Given the description of an element on the screen output the (x, y) to click on. 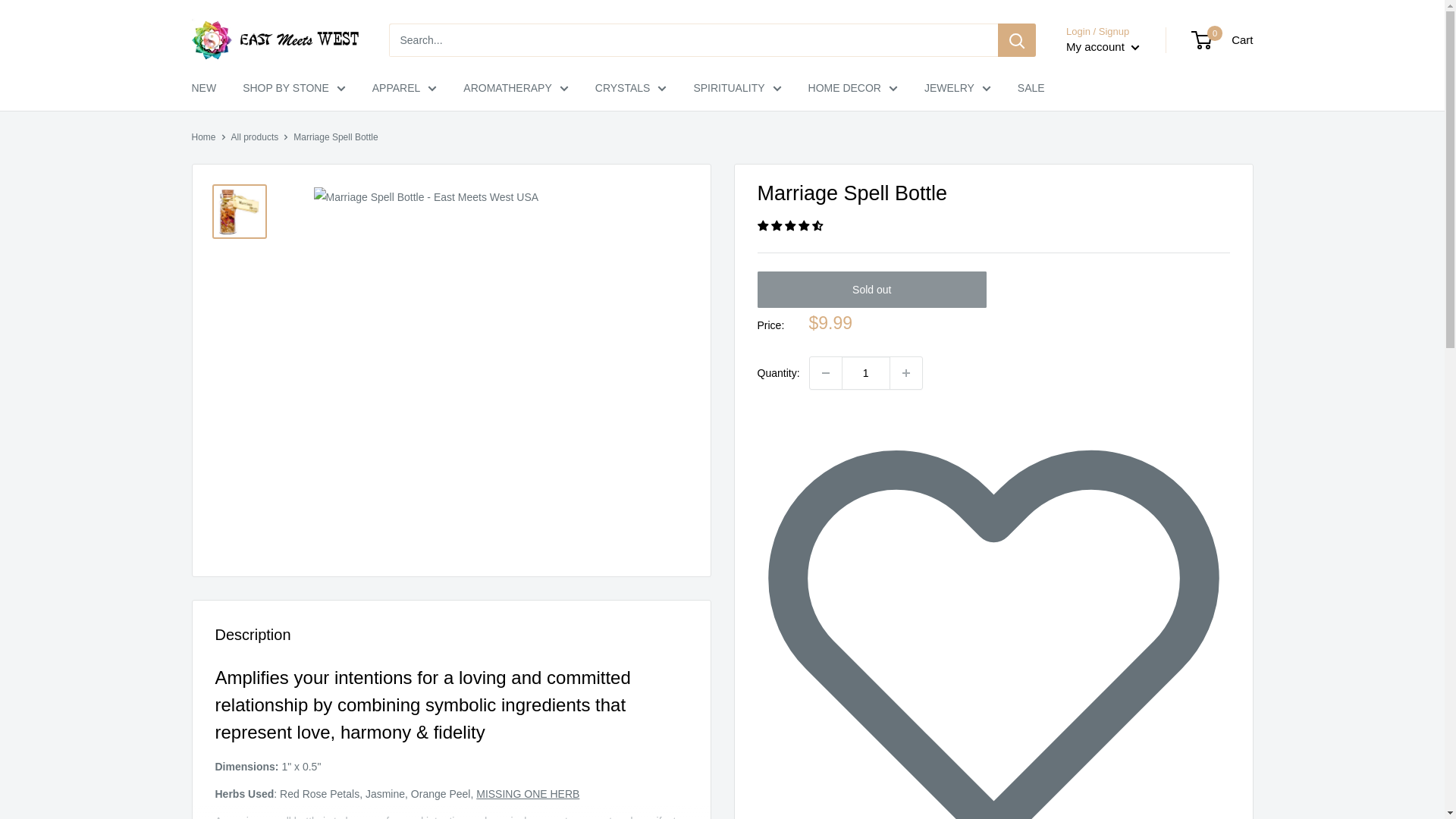
Increase quantity by 1 (905, 373)
1 (865, 373)
Decrease quantity by 1 (825, 373)
